Given the description of an element on the screen output the (x, y) to click on. 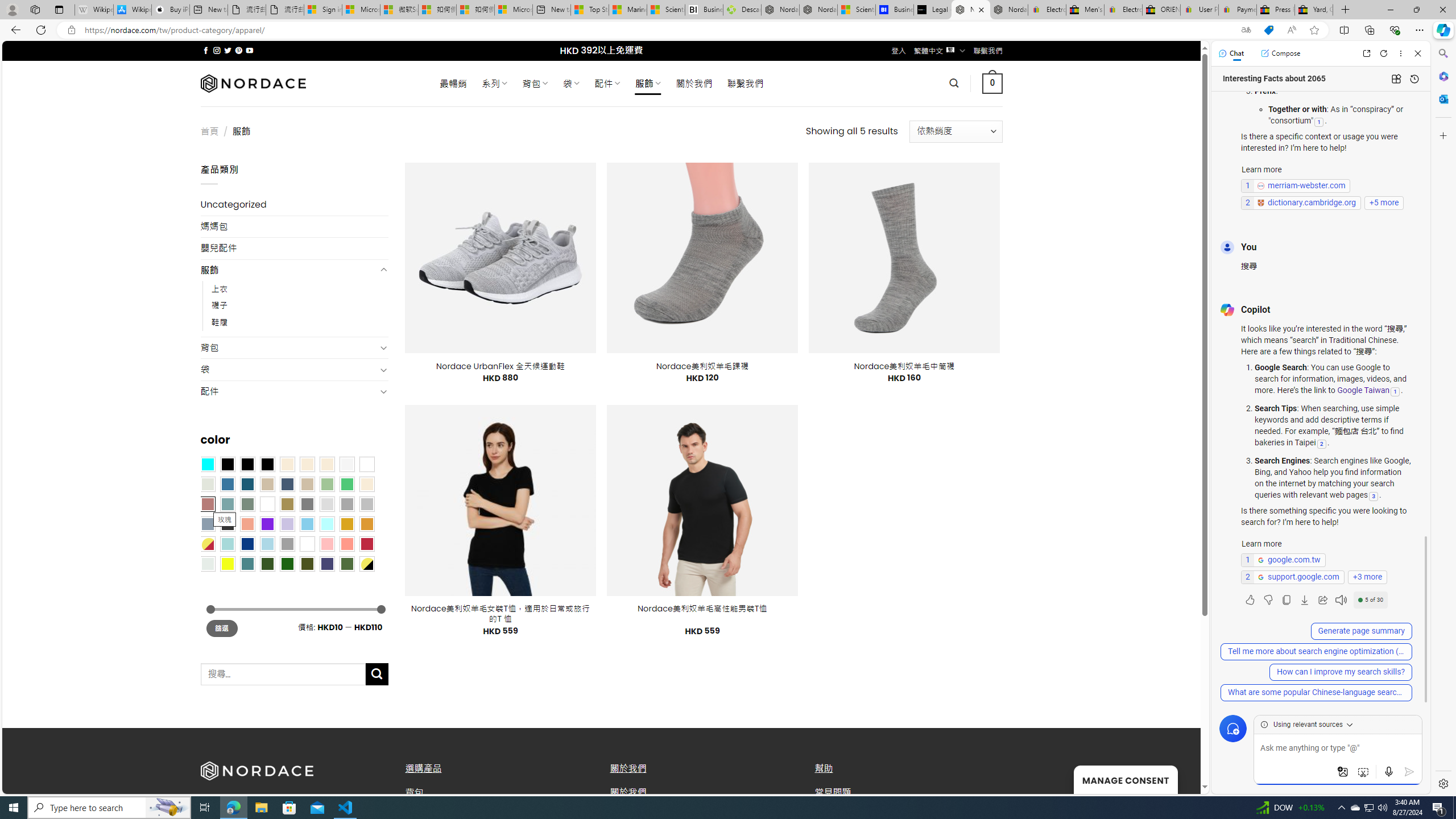
Follow on Pinterest (237, 50)
